Given the description of an element on the screen output the (x, y) to click on. 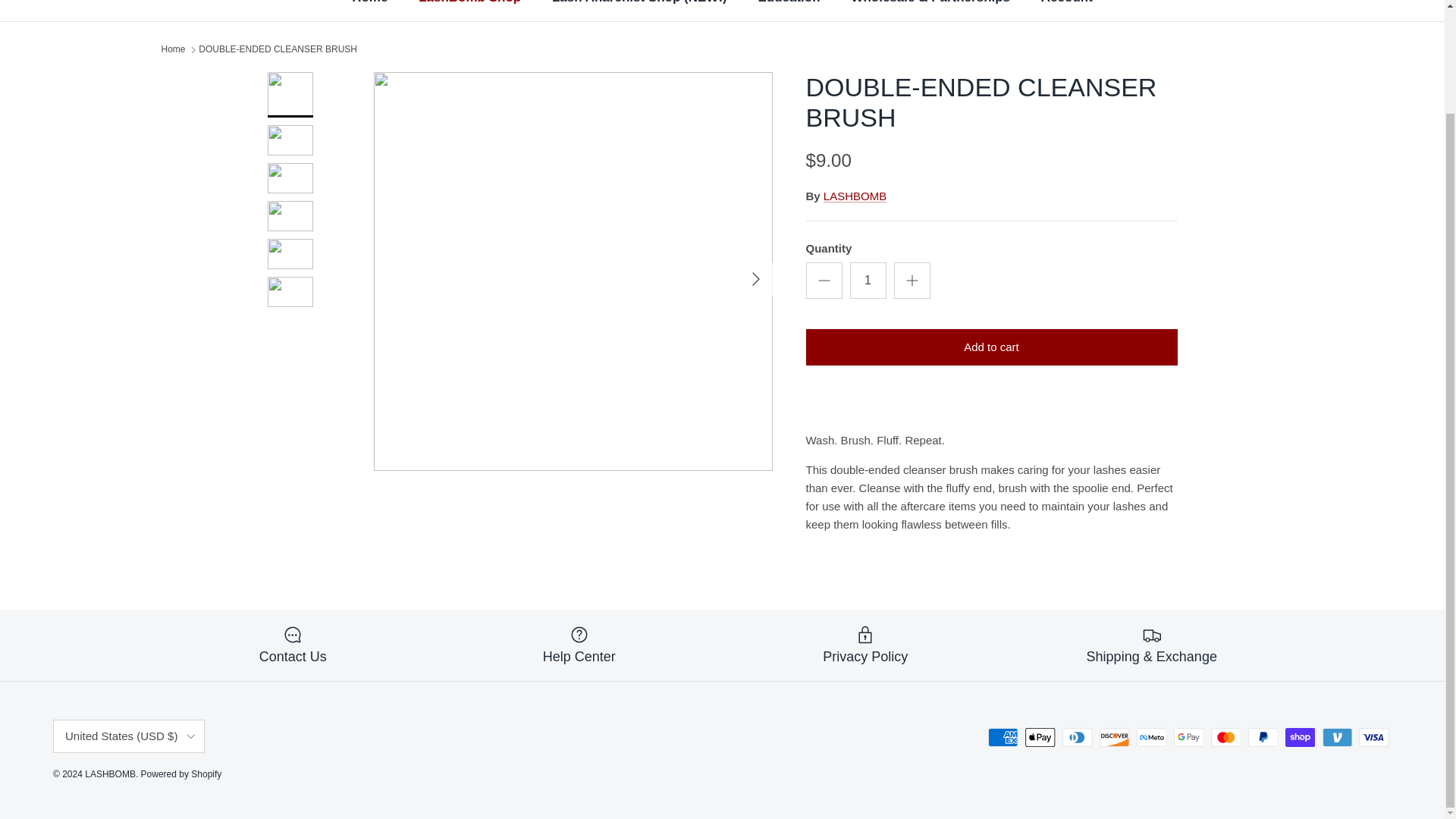
Meta Pay (1151, 737)
Home (369, 10)
LashBomb Shop (469, 10)
Diners Club (1077, 737)
Discover (1114, 737)
Apple Pay (1040, 737)
1 (866, 280)
Google Pay (1188, 737)
American Express (1002, 737)
